Given the description of an element on the screen output the (x, y) to click on. 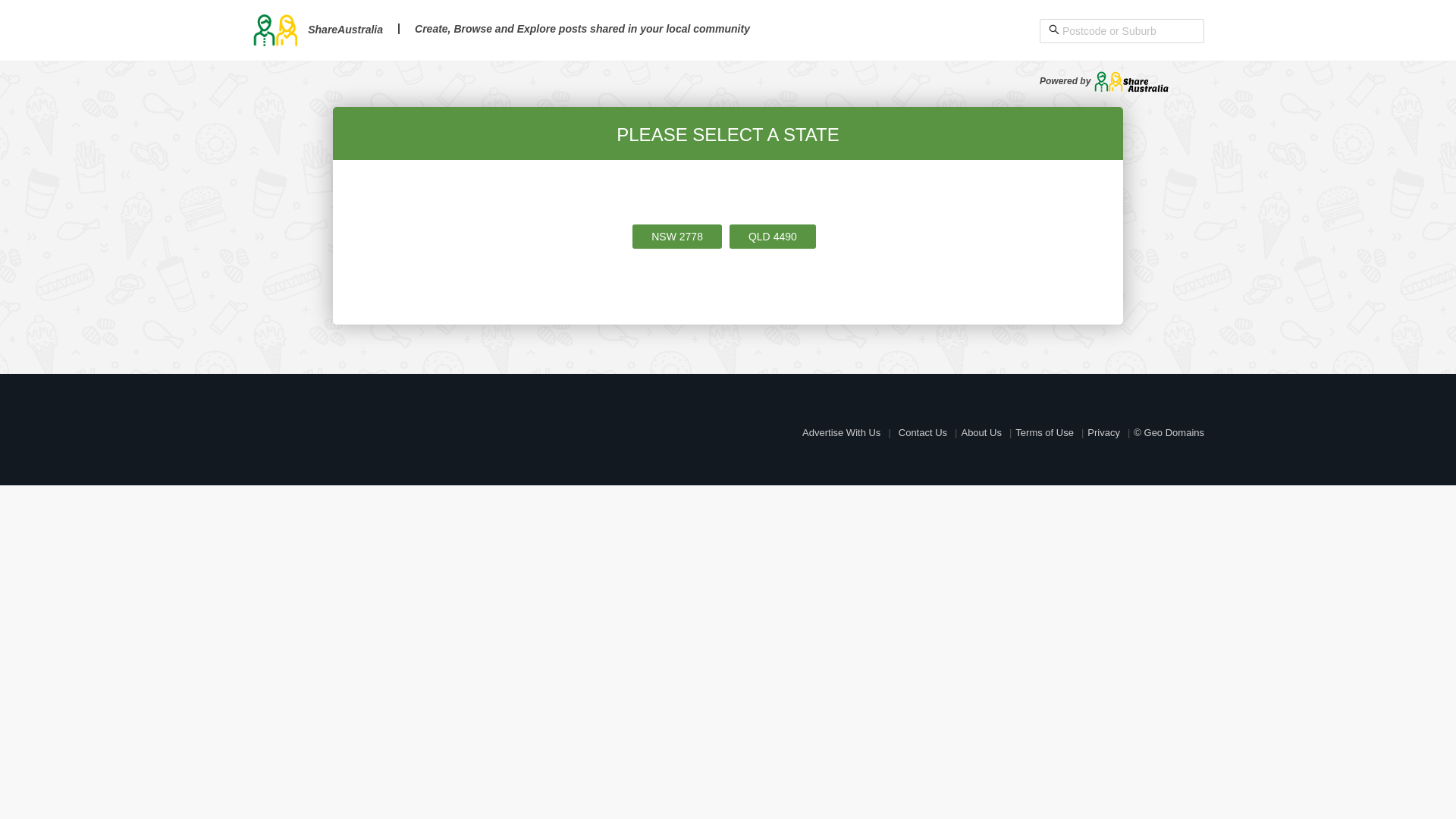
Terms of Use Element type: text (1044, 432)
Contact Us Element type: text (922, 432)
Privacy Element type: text (1103, 432)
Powered by Element type: text (1104, 80)
NSW 2778 Element type: text (676, 236)
QLD 4490 Element type: text (772, 236)
About Us Element type: text (980, 432)
Advertise With Us Element type: text (841, 432)
ShareAustralia Element type: text (316, 29)
